Given the description of an element on the screen output the (x, y) to click on. 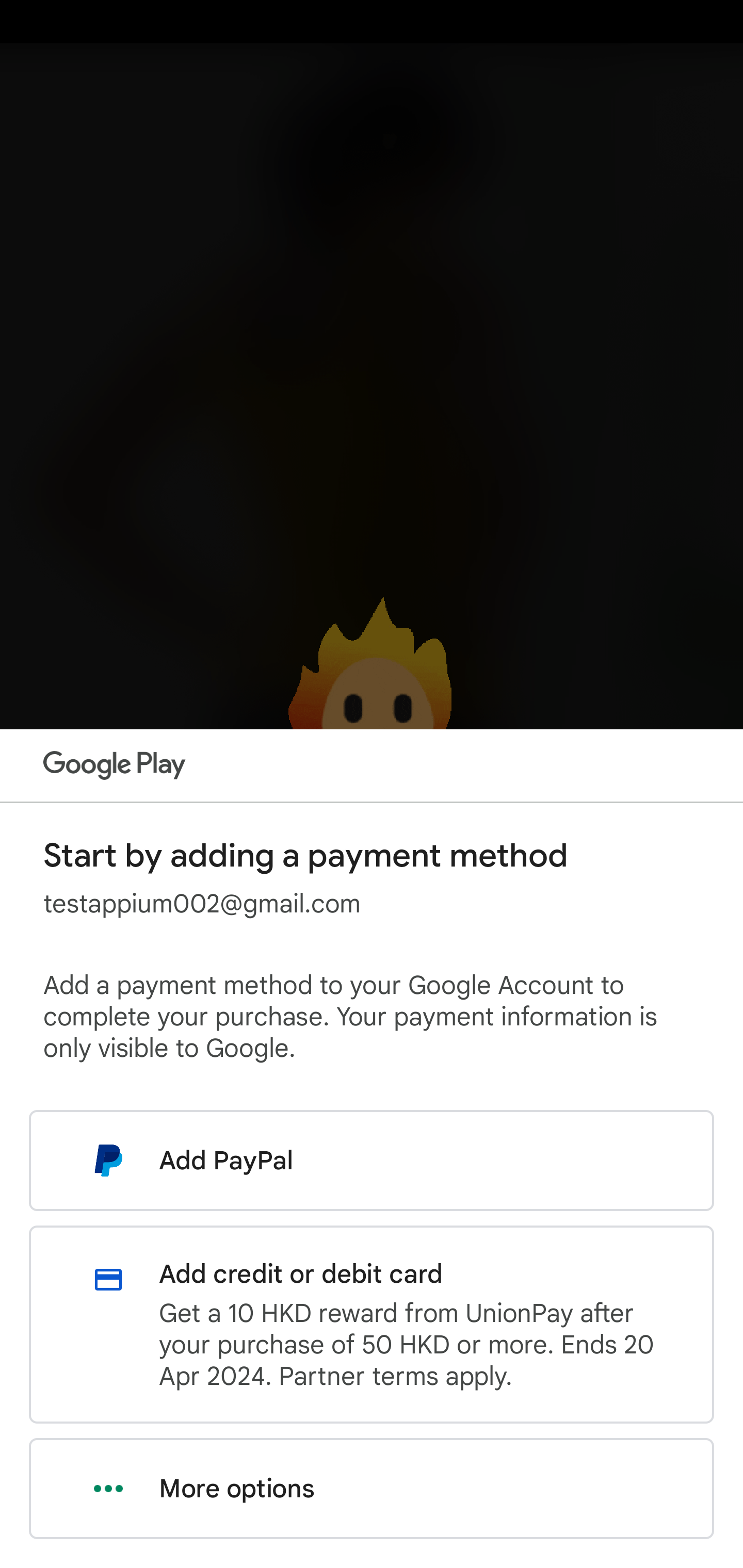
Add PayPal (371, 1160)
More options (371, 1488)
